Given the description of an element on the screen output the (x, y) to click on. 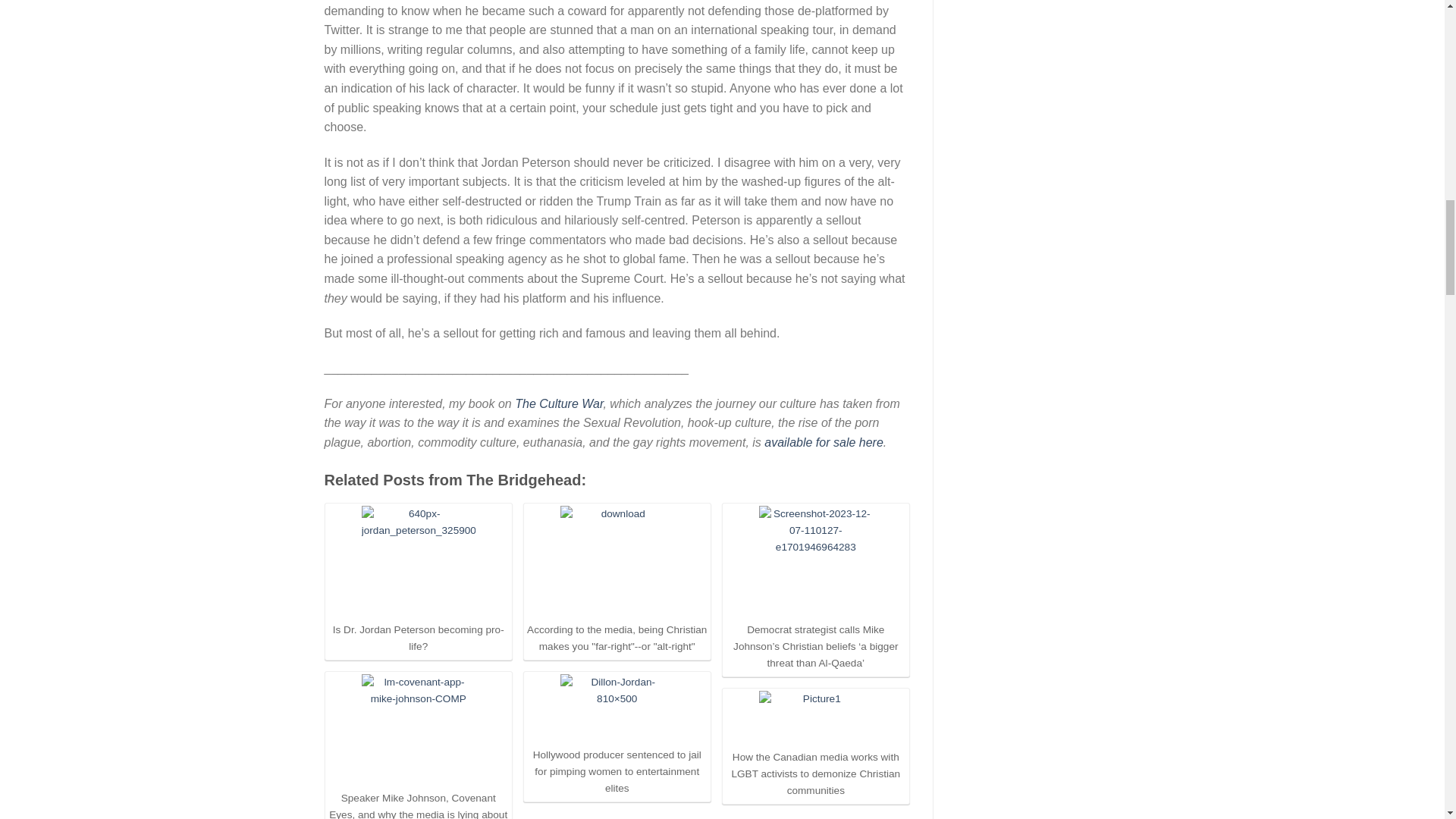
Is Dr. Jordan Peterson becoming pro-life? (418, 562)
